Given the description of an element on the screen output the (x, y) to click on. 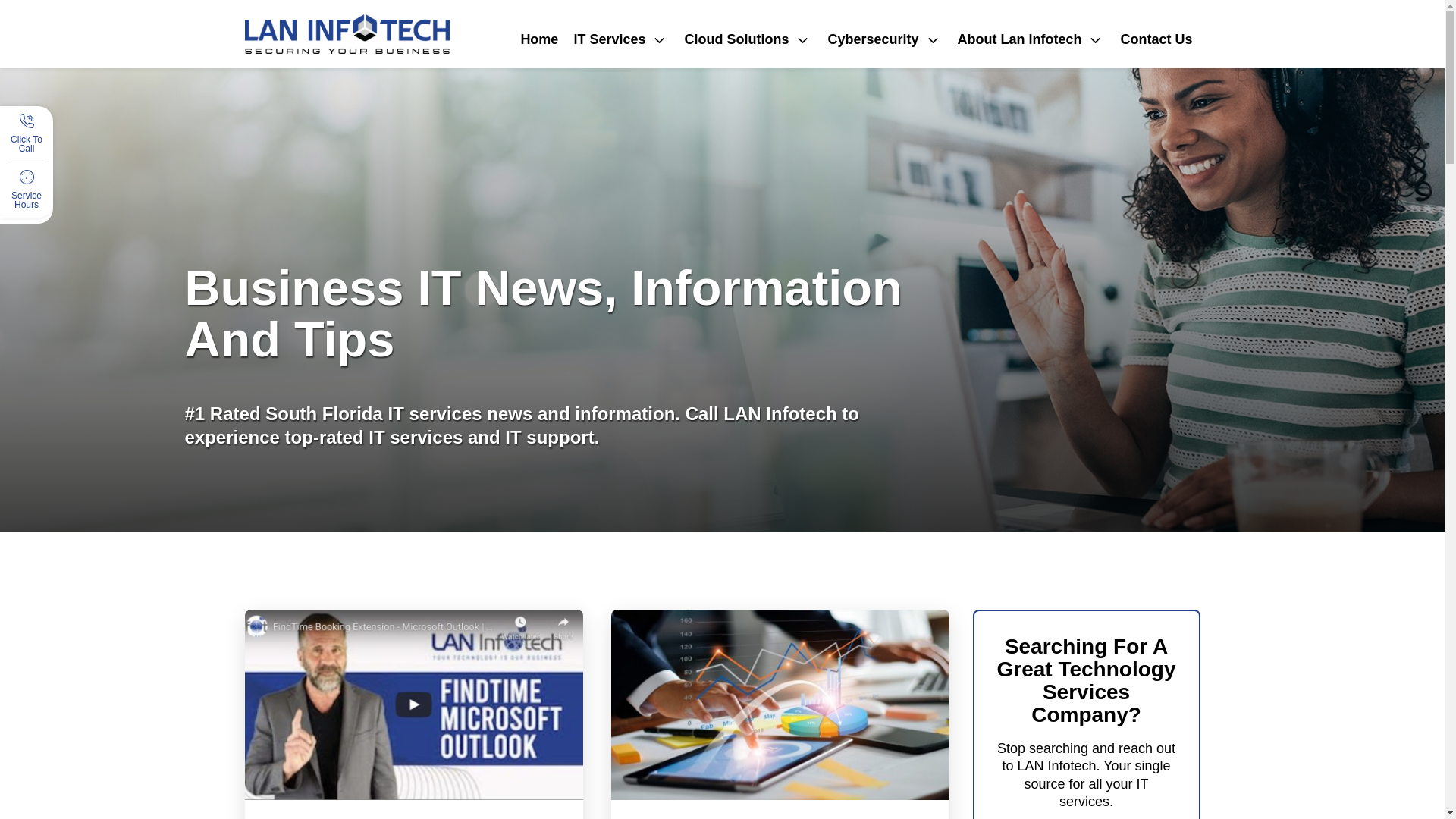
Cloud Solutions (748, 39)
Click To Call (26, 147)
Home (539, 39)
Cybersecurity (884, 39)
IT Services (621, 39)
About Lan Infotech (1030, 39)
